Given the description of an element on the screen output the (x, y) to click on. 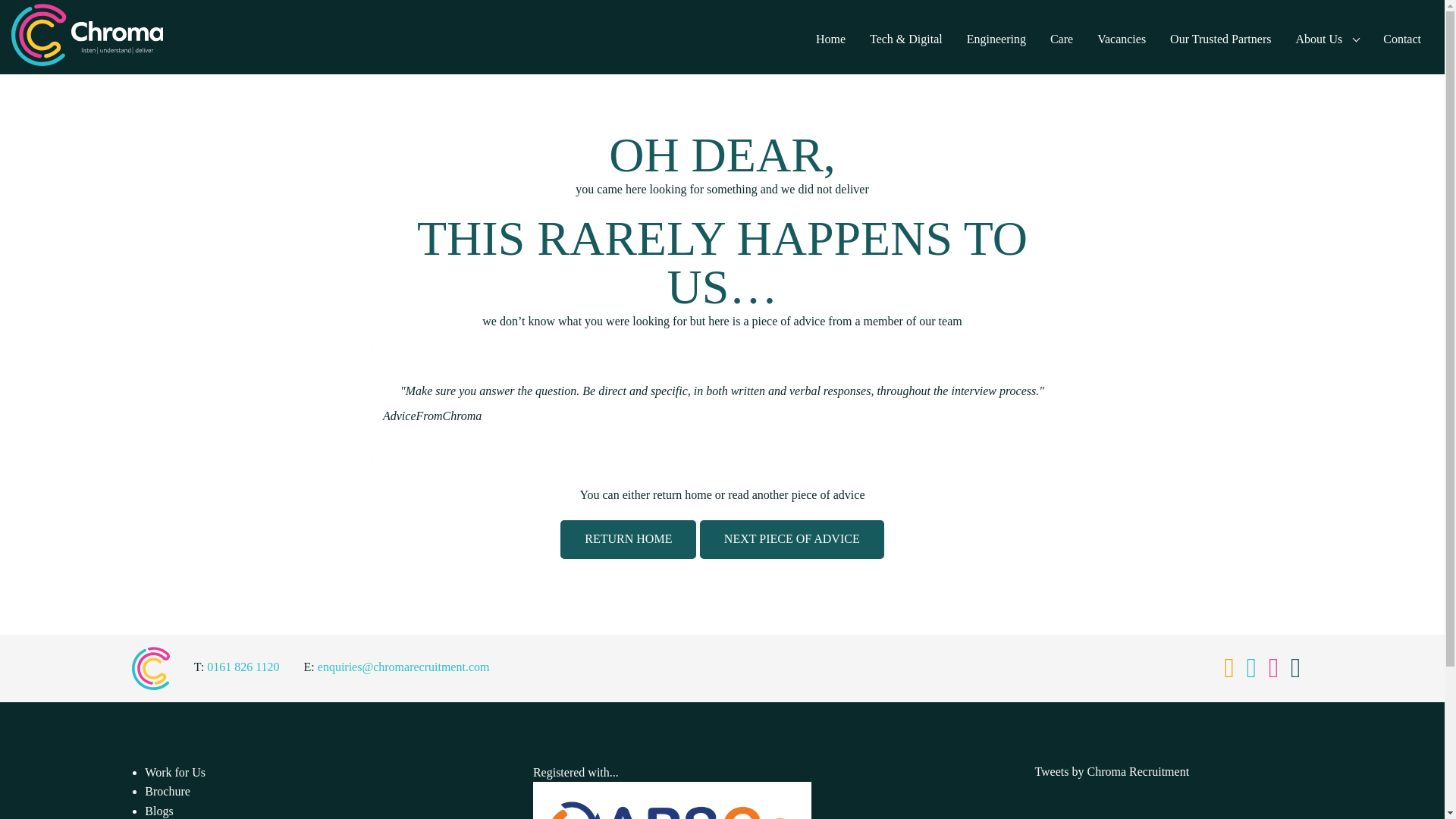
Our Trusted Partners (1220, 37)
NEXT PIECE OF ADVICE (791, 539)
0161 826 1120 (242, 666)
Blogs (158, 810)
RETURN HOME (627, 539)
Tweets by Chroma Recruitment (1111, 771)
About Us (1326, 37)
Work for Us (174, 771)
Vacancies (1121, 37)
Engineering (996, 37)
